Given the description of an element on the screen output the (x, y) to click on. 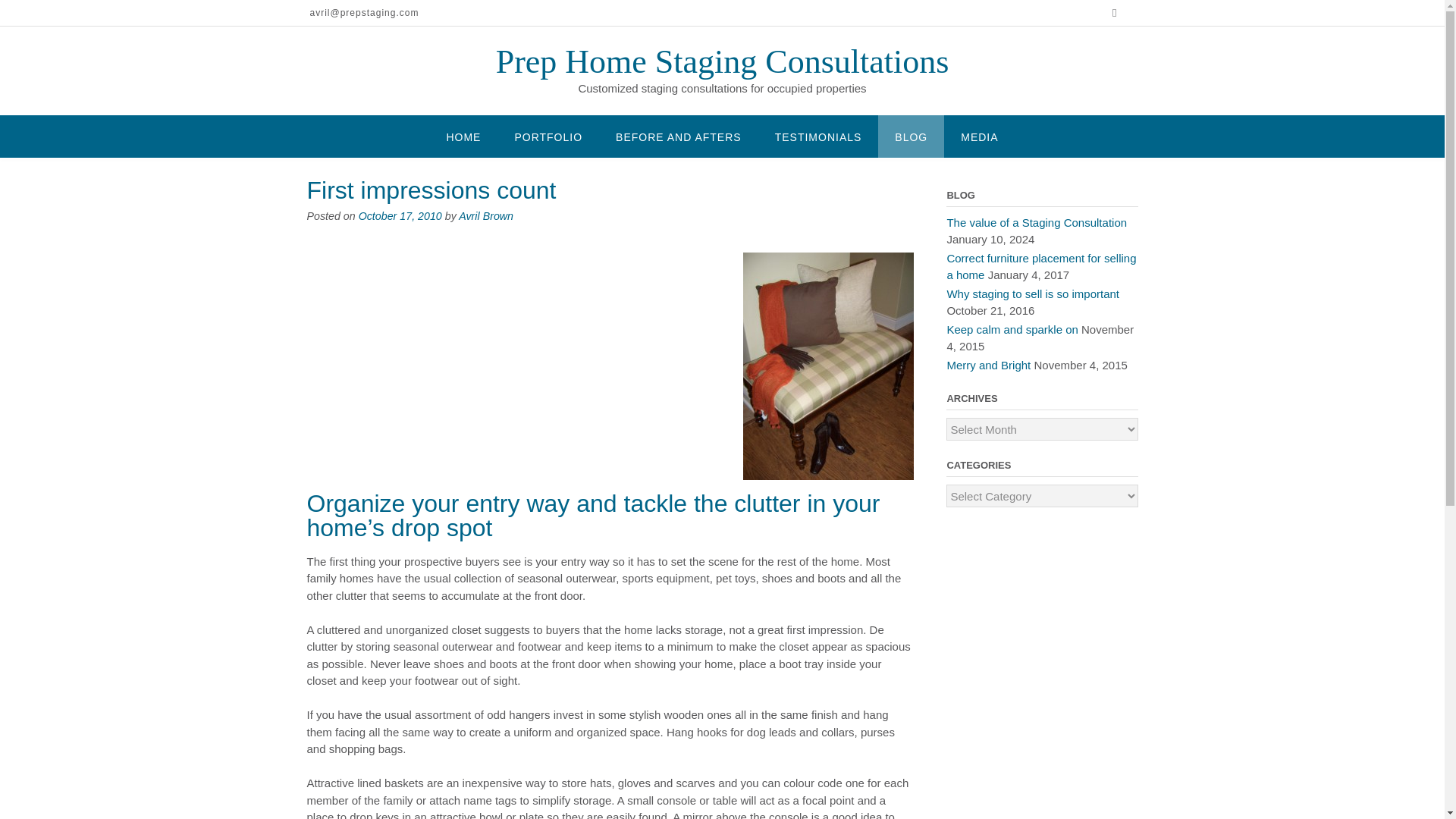
Keep calm and sparkle on (1011, 328)
Avril Brown (485, 215)
MEDIA (978, 136)
PORTFOLIO (547, 136)
Prep Home Staging Consultations (722, 61)
Correct furniture placement for selling a home (1040, 266)
TESTIMONIALS (818, 136)
Prep Home Staging Consultations (722, 61)
October 17, 2010 (400, 215)
entry way (828, 365)
Merry and Bright (988, 364)
BLOG (910, 136)
HOME (463, 136)
The value of a Staging Consultation (1036, 221)
Why staging to sell is so important (1032, 292)
